Given the description of an element on the screen output the (x, y) to click on. 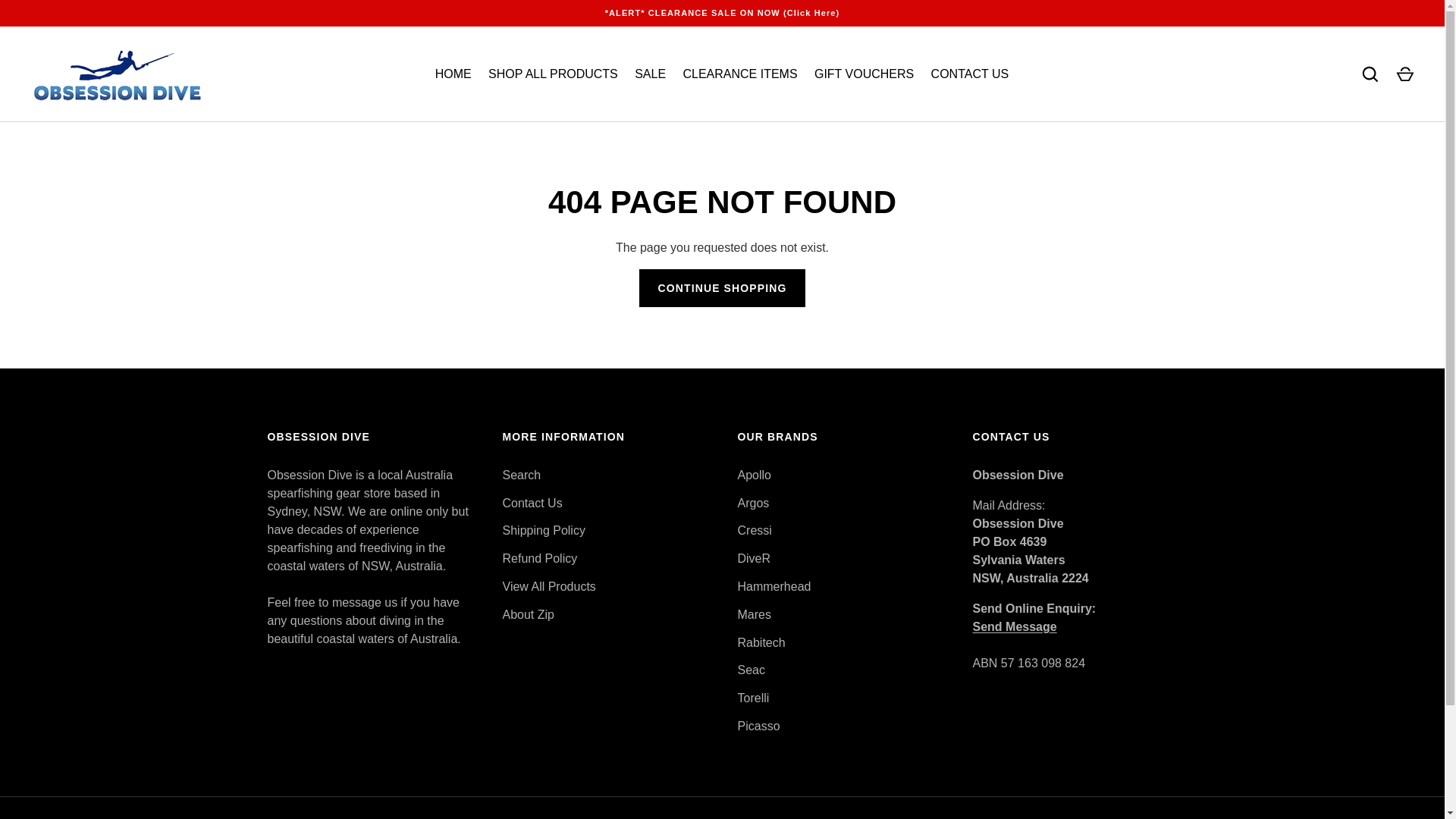
Contact Us (1014, 626)
SALE (650, 74)
CONTACT US (968, 74)
SHOP ALL PRODUCTS (553, 74)
GIFT VOUCHERS (864, 74)
HOME (452, 74)
CLEARANCE ITEMS (740, 74)
